Given the description of an element on the screen output the (x, y) to click on. 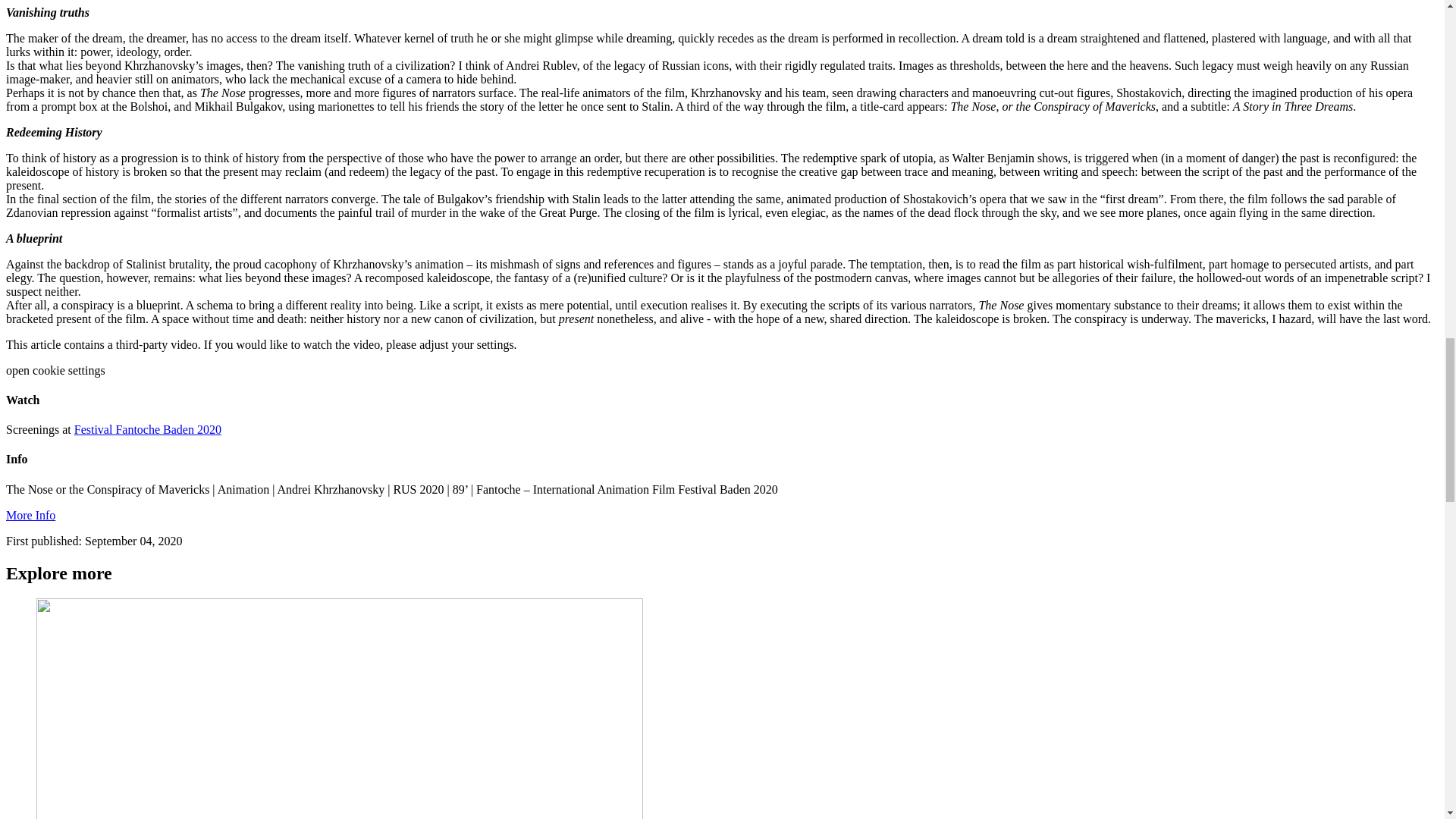
open cookie settings (54, 369)
Festival Fantoche Baden 2020 (147, 429)
More Info (30, 514)
